Given the description of an element on the screen output the (x, y) to click on. 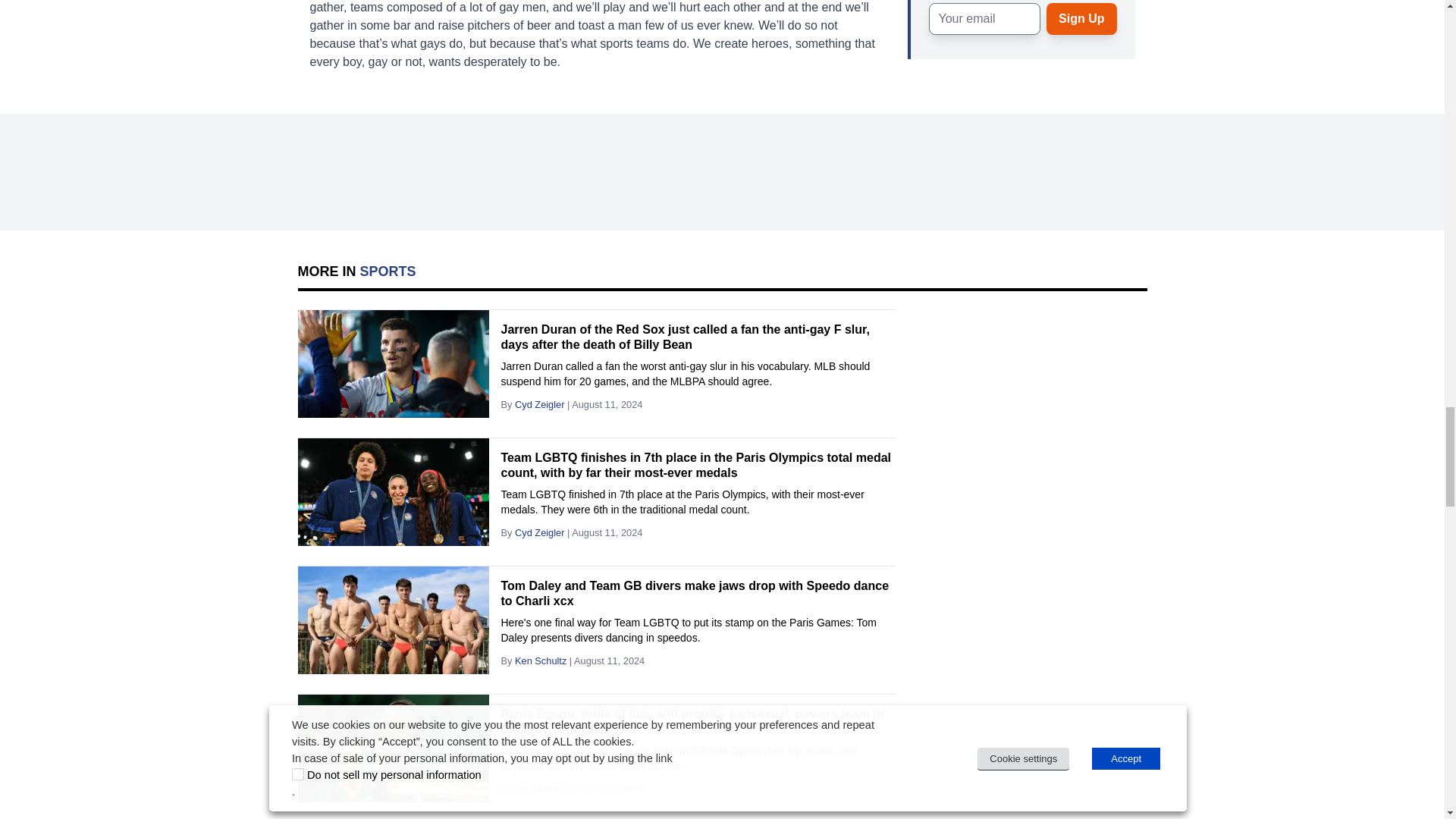
Cyd Zeigler (539, 532)
Ken Schultz (540, 660)
Cyd Zeigler (539, 404)
Jon Holmes (540, 788)
